Given the description of an element on the screen output the (x, y) to click on. 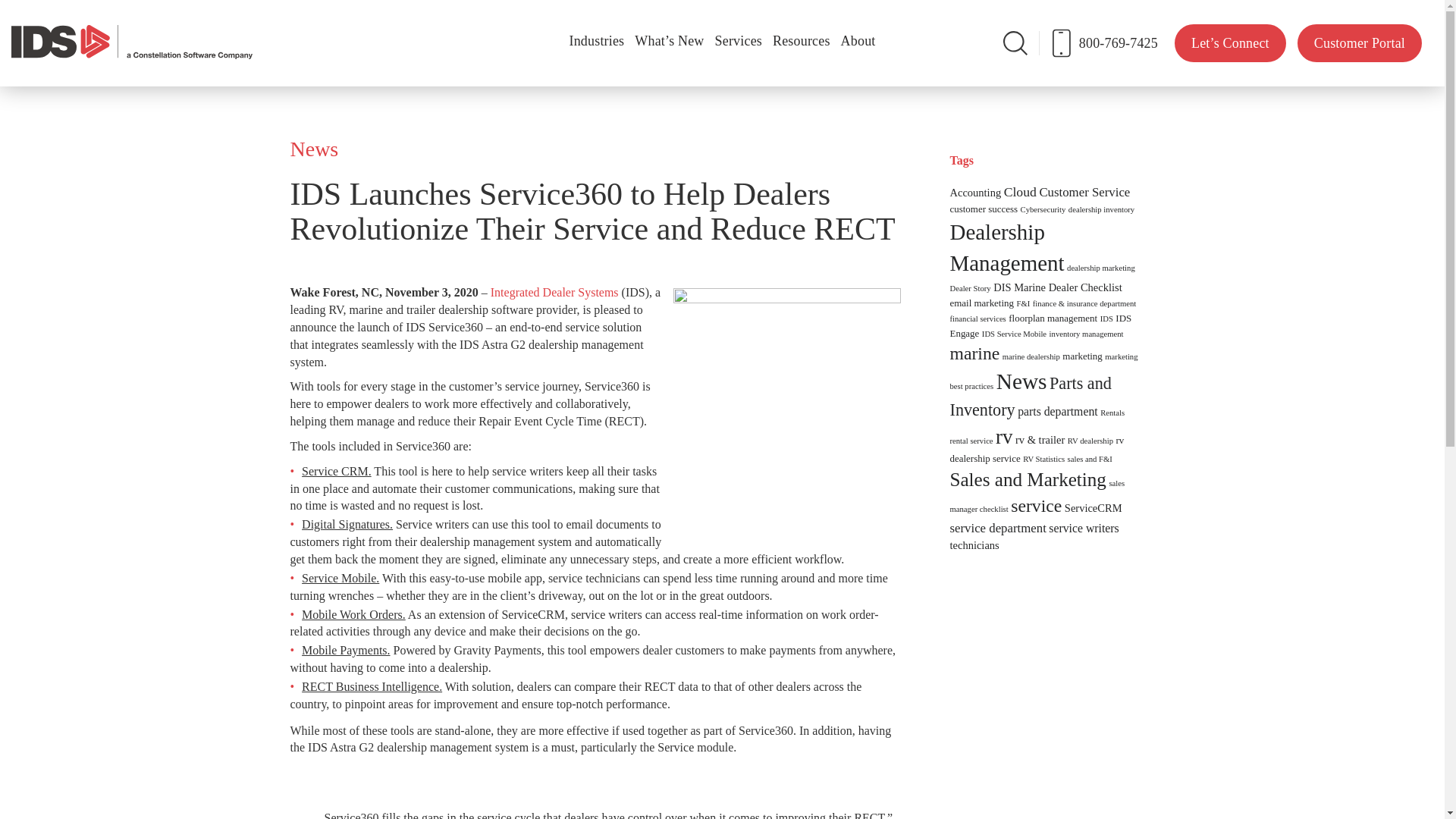
About (857, 24)
Accounting (975, 192)
News (313, 148)
IDS a Constellation Software Comapny (131, 41)
Resources (801, 24)
Industries (595, 24)
IDS a Constellation Software Comapny (131, 41)
Customer Portal (1359, 42)
Customer Portal (1359, 42)
Cloud (1020, 191)
Services (738, 24)
Integrated Dealer Systems (554, 291)
800-769-7425 (1112, 42)
800-769-7425 (1112, 42)
